Given the description of an element on the screen output the (x, y) to click on. 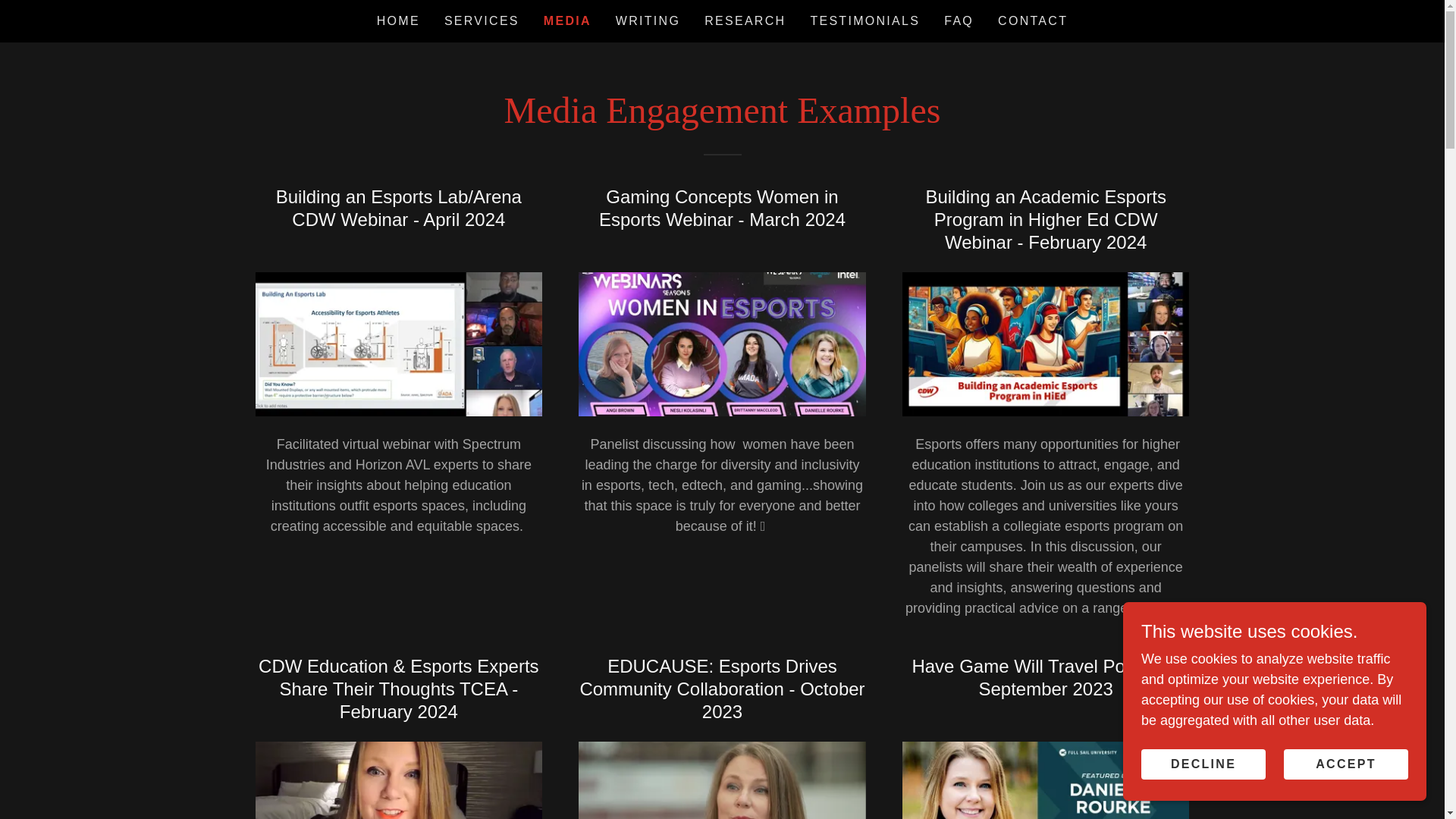
WRITING (647, 21)
FAQ (958, 21)
TESTIMONIALS (864, 21)
RESEARCH (745, 21)
SERVICES (481, 21)
MEDIA (567, 21)
CONTACT (1031, 21)
HOME (398, 21)
